Given the description of an element on the screen output the (x, y) to click on. 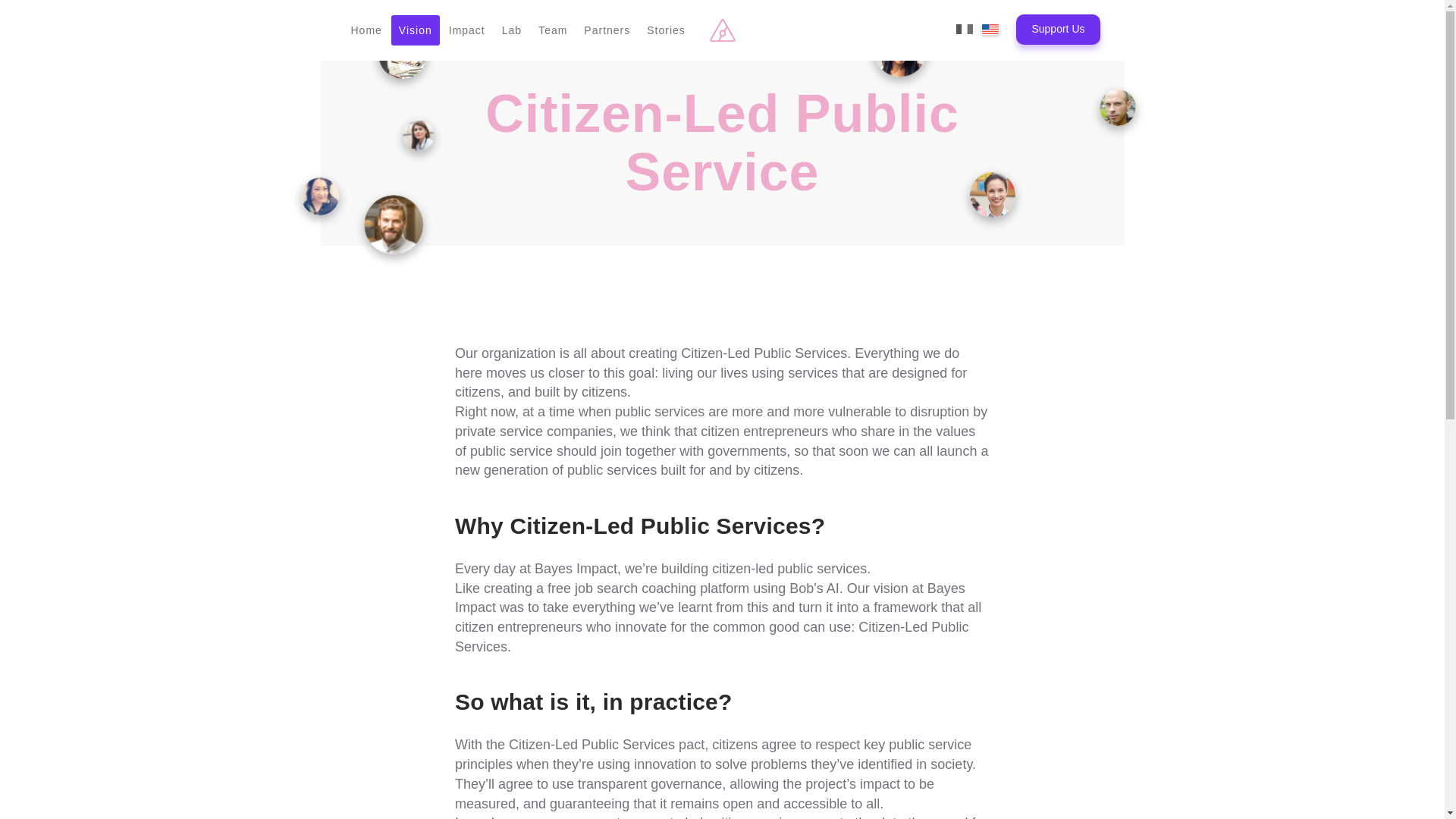
Support Us (1057, 29)
Team (553, 30)
Partners (606, 30)
Home (365, 30)
Stories (666, 30)
Vision (415, 30)
Impact (467, 30)
Lab (512, 30)
